Given the description of an element on the screen output the (x, y) to click on. 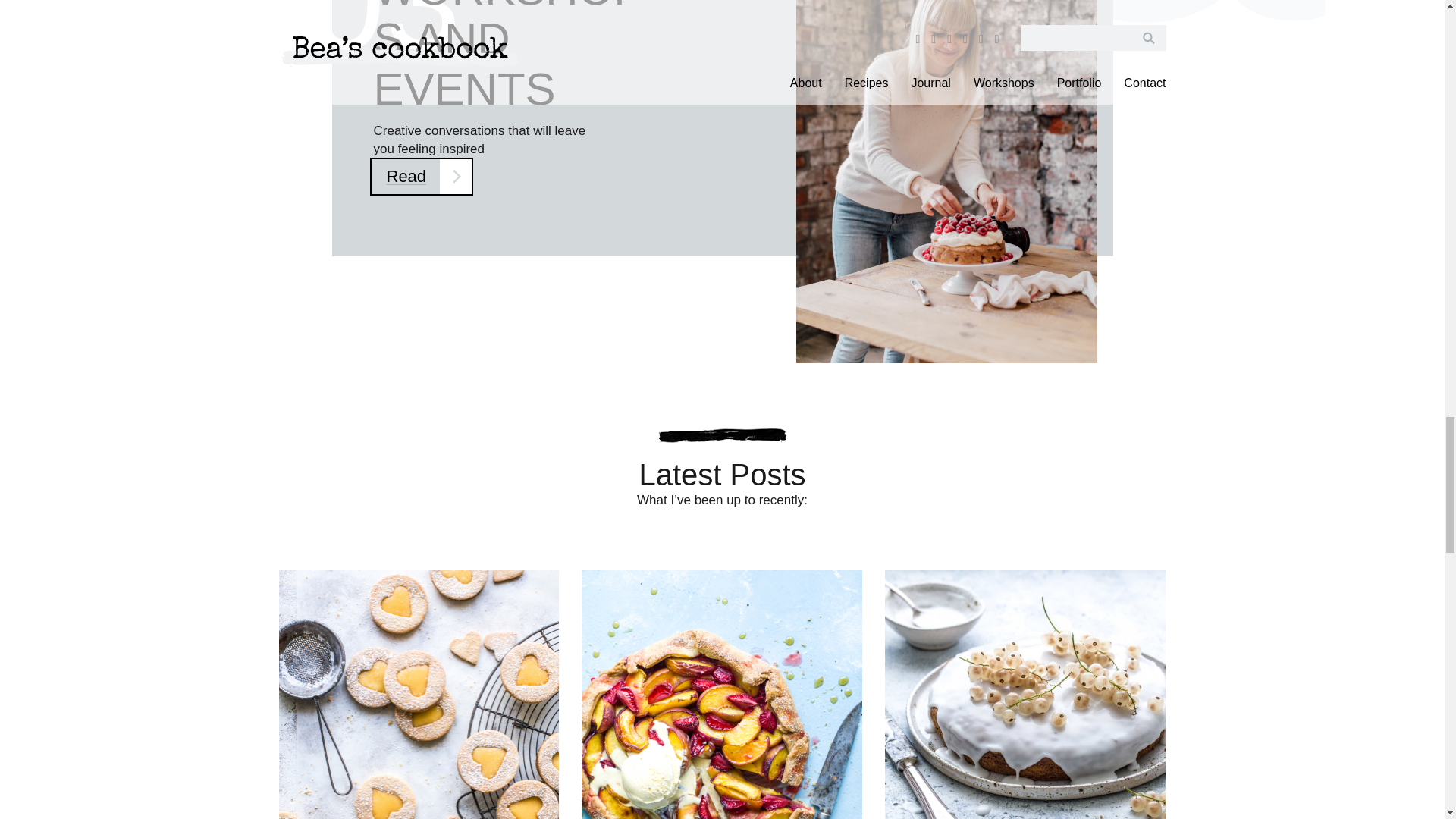
WORKSHOPS AND EVENTS (507, 57)
Read (421, 176)
